Given the description of an element on the screen output the (x, y) to click on. 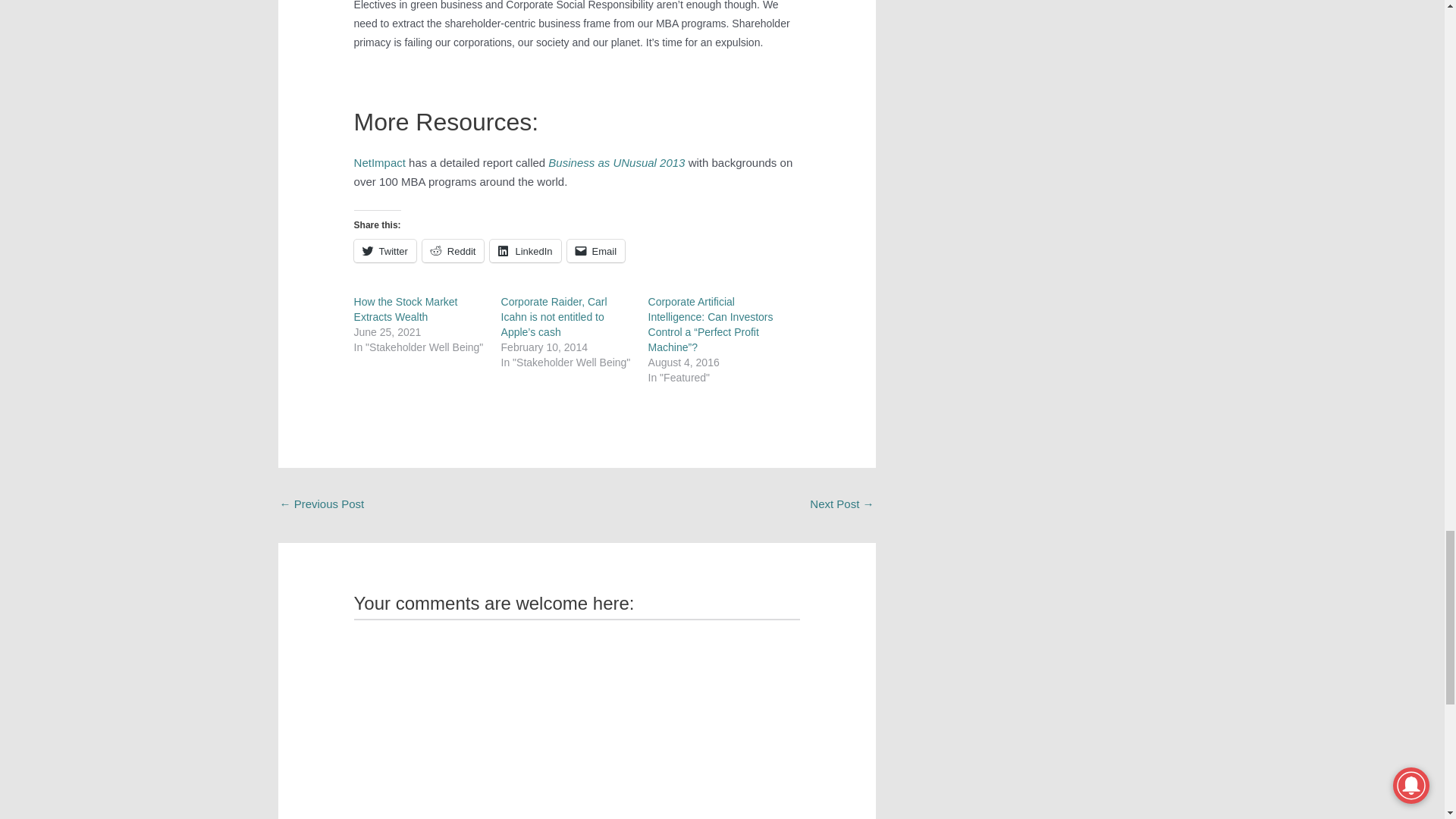
How the Stock Market Extracts Wealth (405, 308)
Comment Form (576, 719)
Click to share on Reddit (453, 250)
Click to share on Twitter (384, 250)
Click to email a link to a friend (596, 250)
NetImpact (379, 162)
Corporate Raider, Carl Icahn is not entitled to Apple's cash (841, 505)
Click to share on LinkedIn (524, 250)
